Given the description of an element on the screen output the (x, y) to click on. 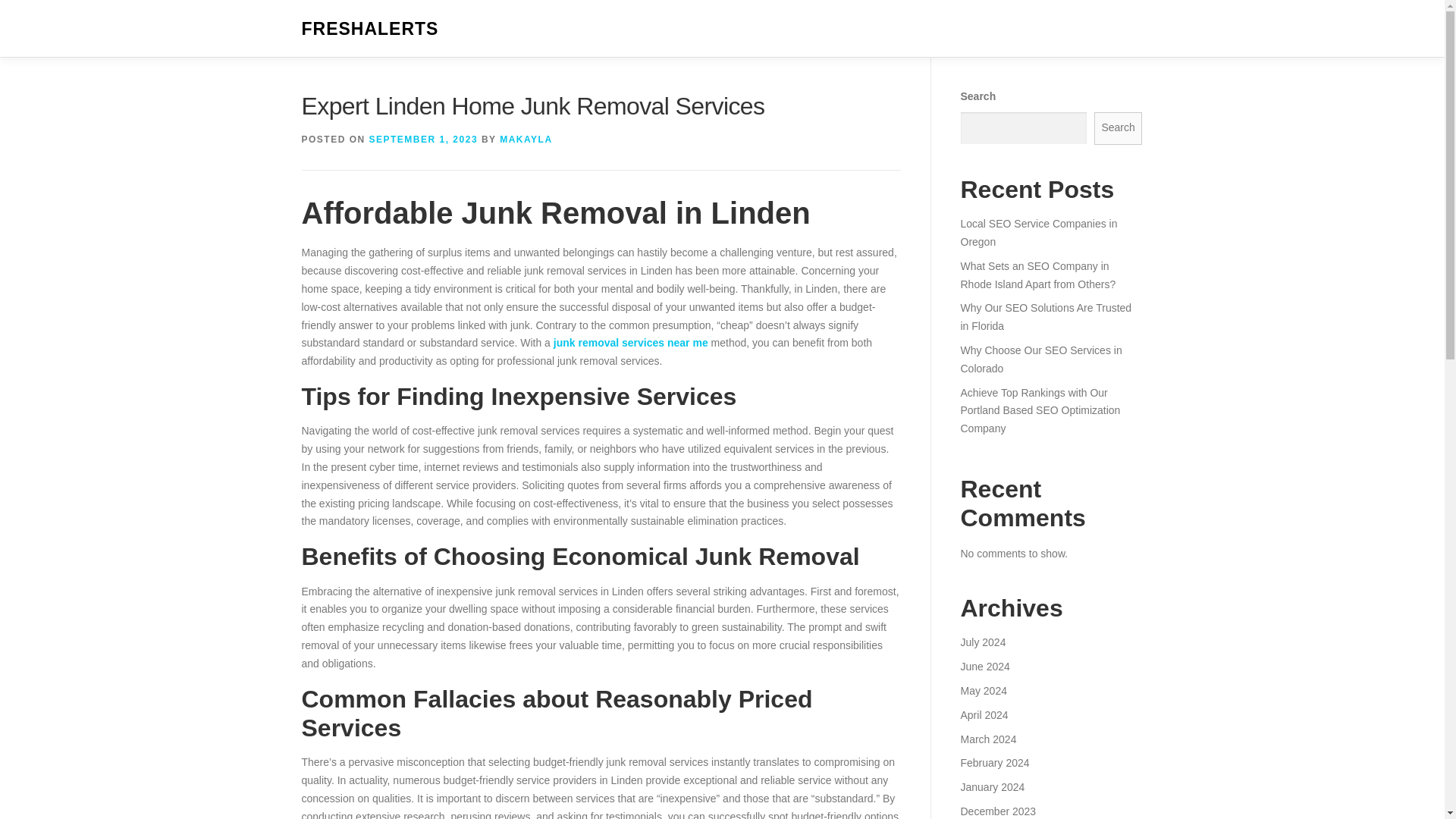
Search (1118, 128)
January 2024 (992, 787)
Why Choose Our SEO Services in Colorado (1040, 358)
MAKAYLA (525, 139)
What Sets an SEO Company in Rhode Island Apart from Others? (1037, 275)
FRESHALERTS (370, 29)
July 2024 (982, 642)
June 2024 (984, 666)
February 2024 (994, 762)
Local SEO Service Companies in Oregon (1037, 232)
March 2024 (987, 738)
December 2023 (997, 811)
April 2024 (983, 715)
SEPTEMBER 1, 2023 (424, 139)
